Given the description of an element on the screen output the (x, y) to click on. 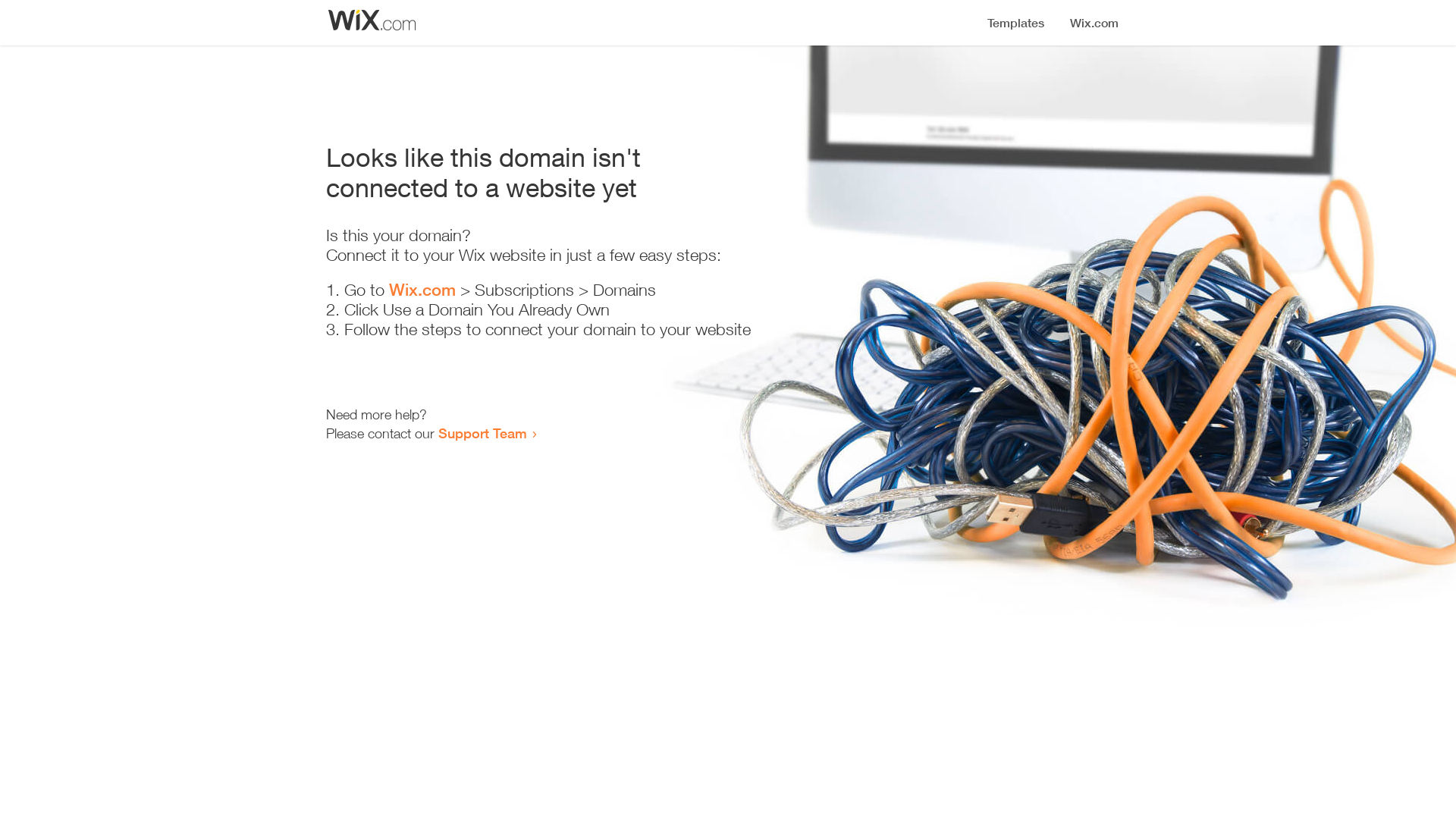
Wix.com Element type: text (422, 289)
Support Team Element type: text (482, 432)
